Given the description of an element on the screen output the (x, y) to click on. 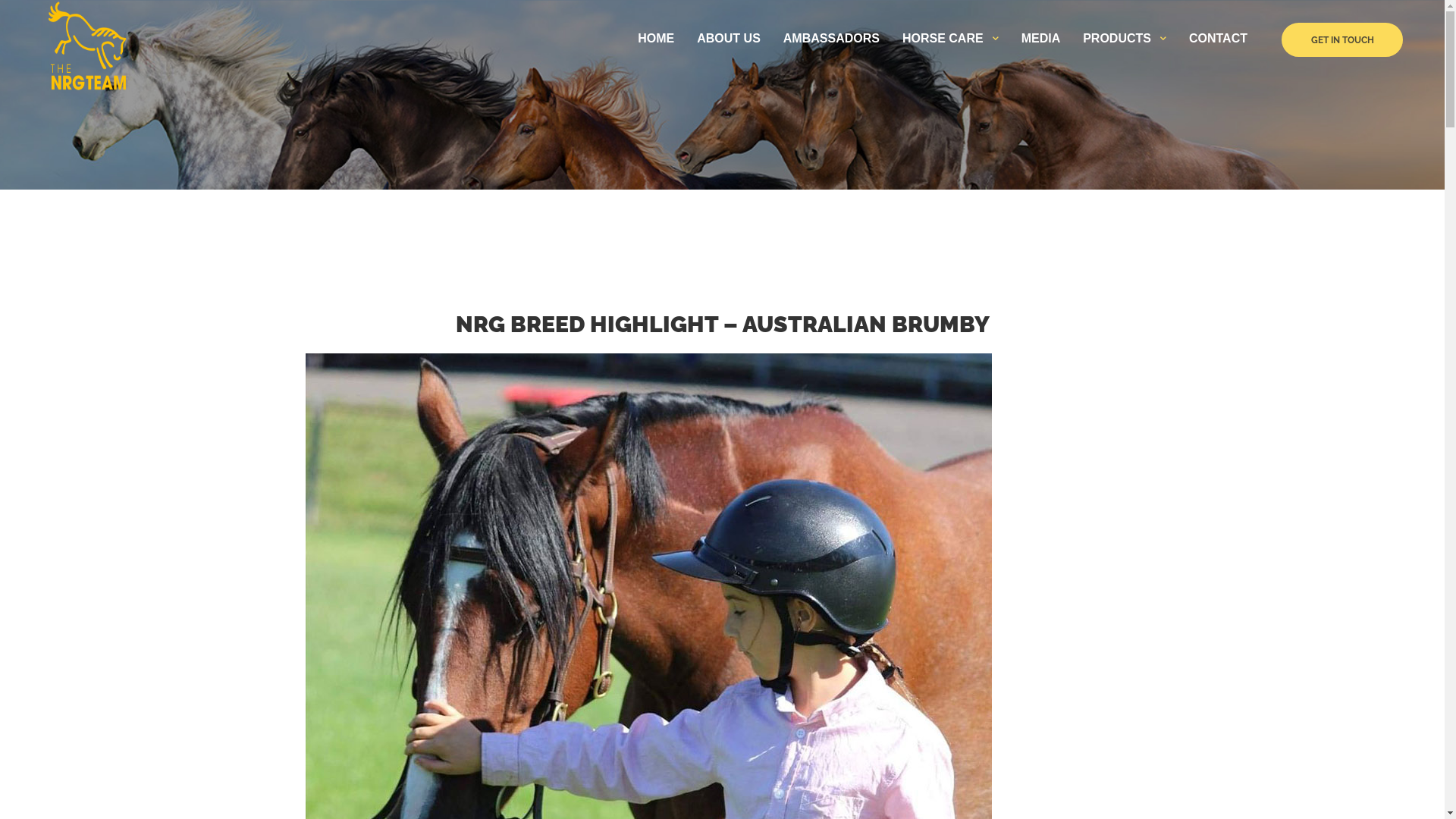
MEDIA Element type: text (1040, 38)
ABOUT US Element type: text (728, 38)
HOME Element type: text (655, 38)
HORSE CARE Element type: text (942, 38)
PRODUCTS Element type: text (1116, 38)
AMBASSADORS Element type: text (831, 38)
GET IN TOUCH Element type: text (1341, 39)
CONTACT Element type: text (1218, 38)
